Given the description of an element on the screen output the (x, y) to click on. 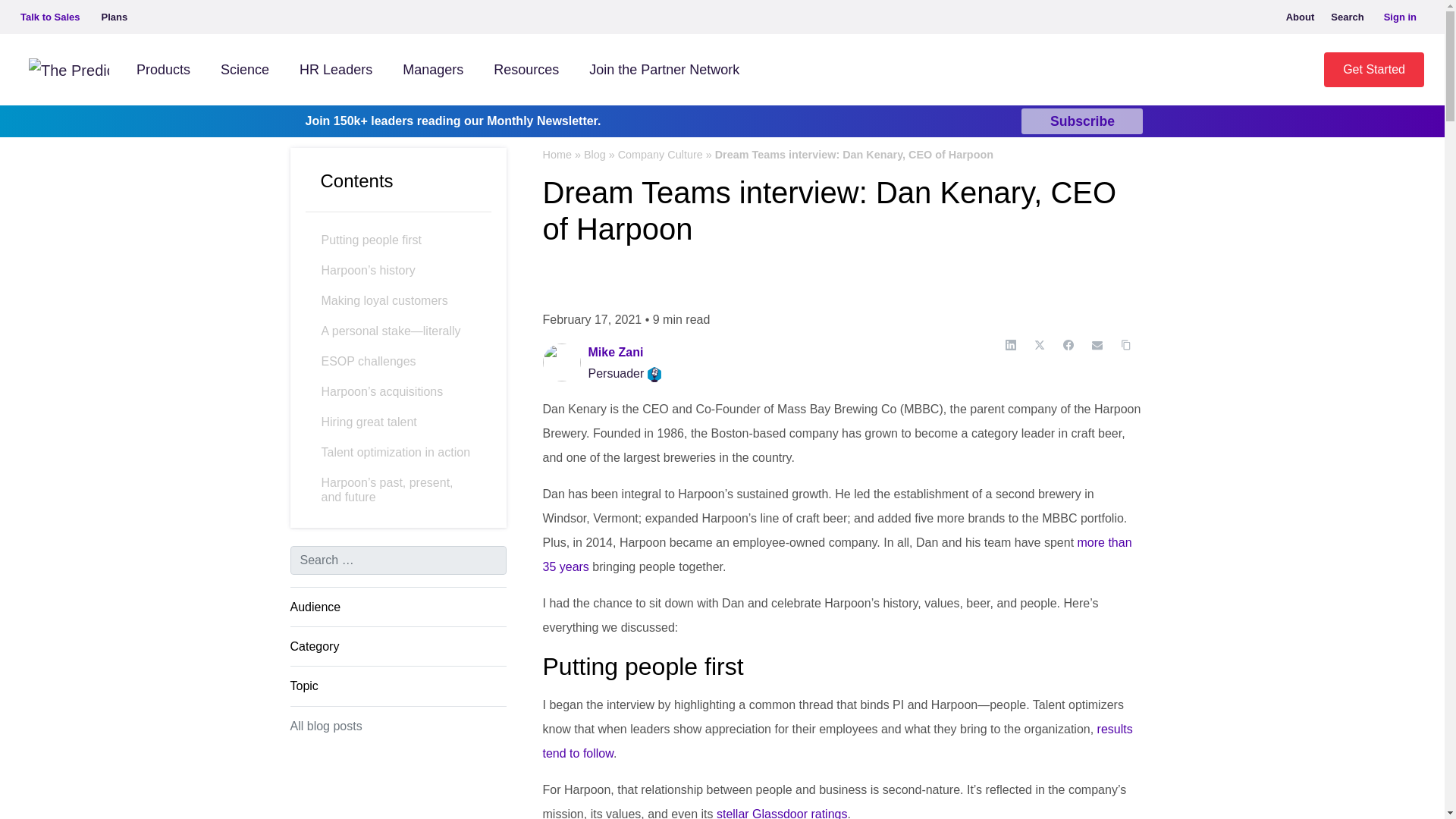
Hiring great talent (397, 421)
Mike Zani (565, 360)
All blog posts (325, 725)
Search (1348, 17)
About (1300, 17)
Talent optimization in action (397, 451)
Search for: (397, 560)
Making loyal customers (397, 300)
Putting people first (397, 239)
Products (162, 69)
